Given the description of an element on the screen output the (x, y) to click on. 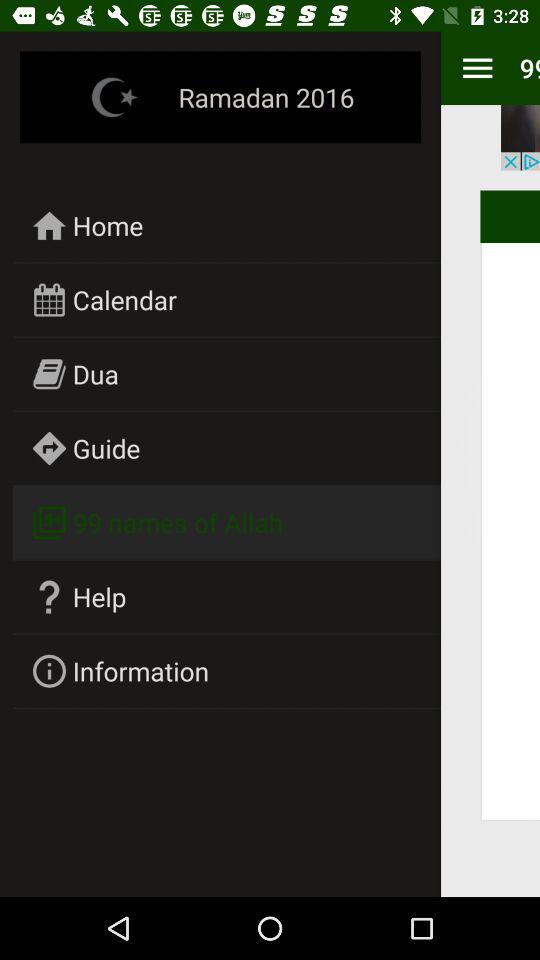
watch advertisement (520, 137)
